Given the description of an element on the screen output the (x, y) to click on. 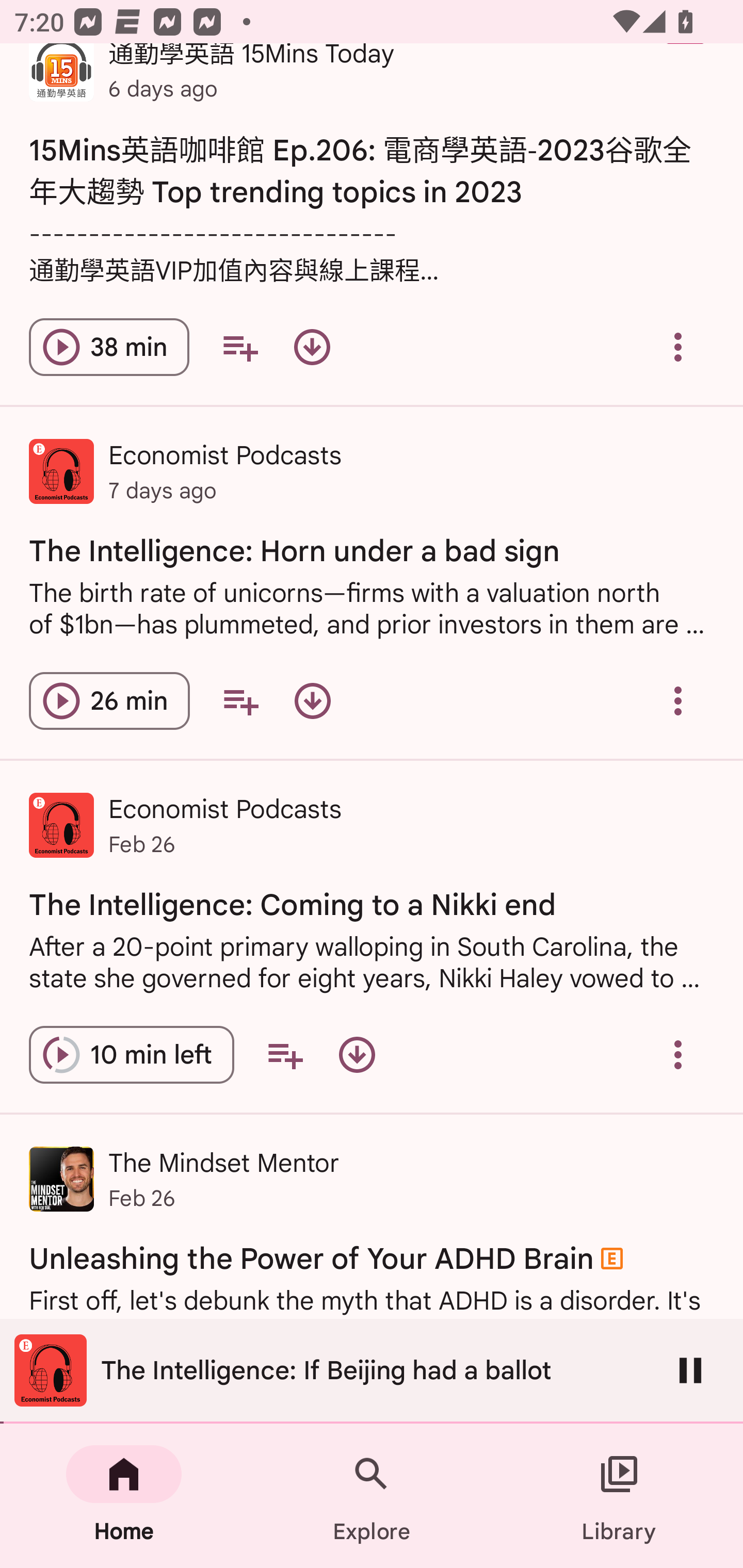
Add to your queue (239, 347)
Download episode (312, 347)
Overflow menu (677, 347)
Add to your queue (240, 700)
Download episode (312, 700)
Overflow menu (677, 700)
Add to your queue (284, 1054)
Download episode (356, 1054)
Overflow menu (677, 1054)
Pause (690, 1370)
Explore (371, 1495)
Library (619, 1495)
